Given the description of an element on the screen output the (x, y) to click on. 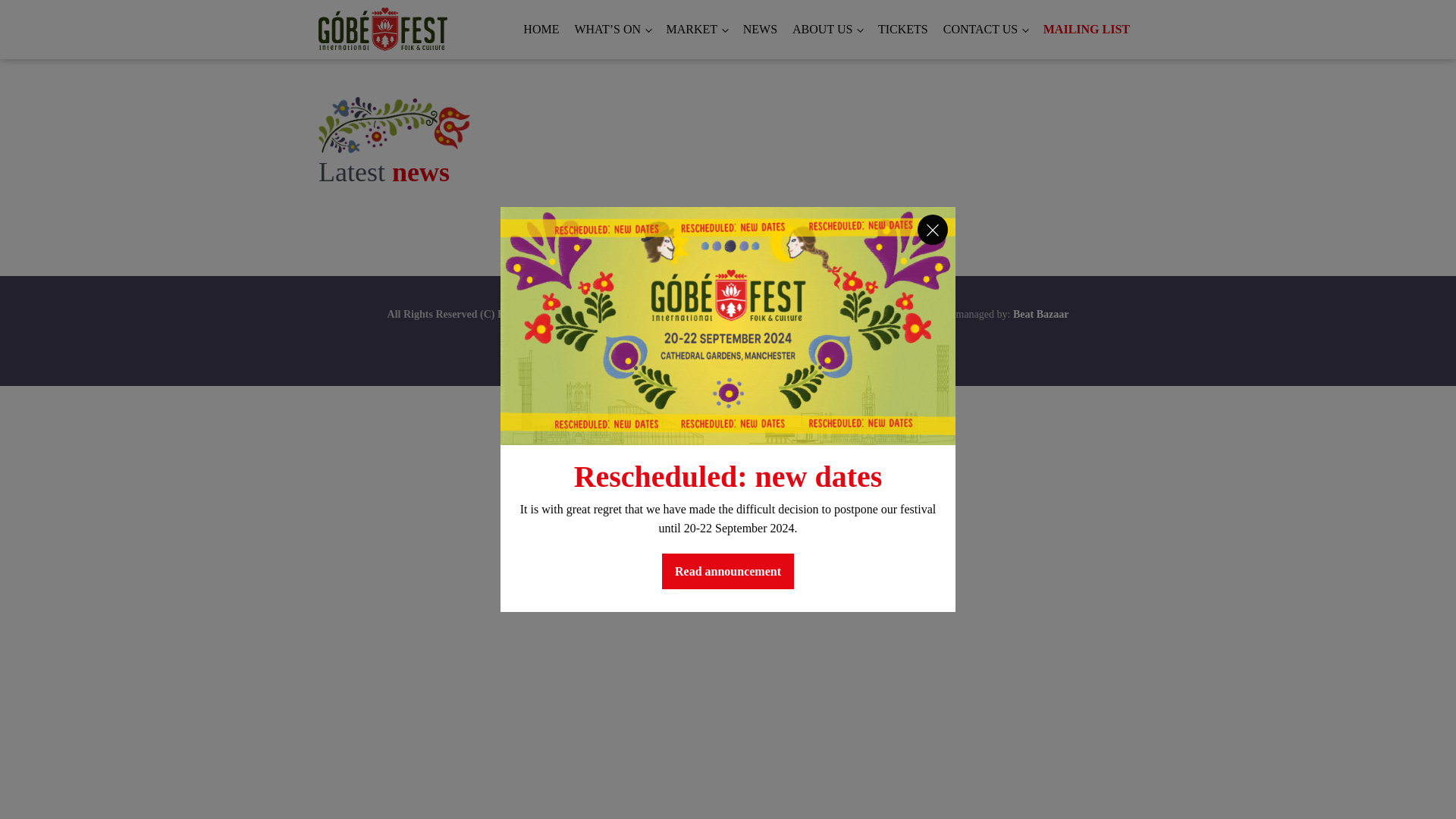
MARKET (697, 29)
TICKETS (903, 29)
MAILING LIST (1086, 29)
CONTACT US (985, 29)
ABOUT US (827, 29)
